Given the description of an element on the screen output the (x, y) to click on. 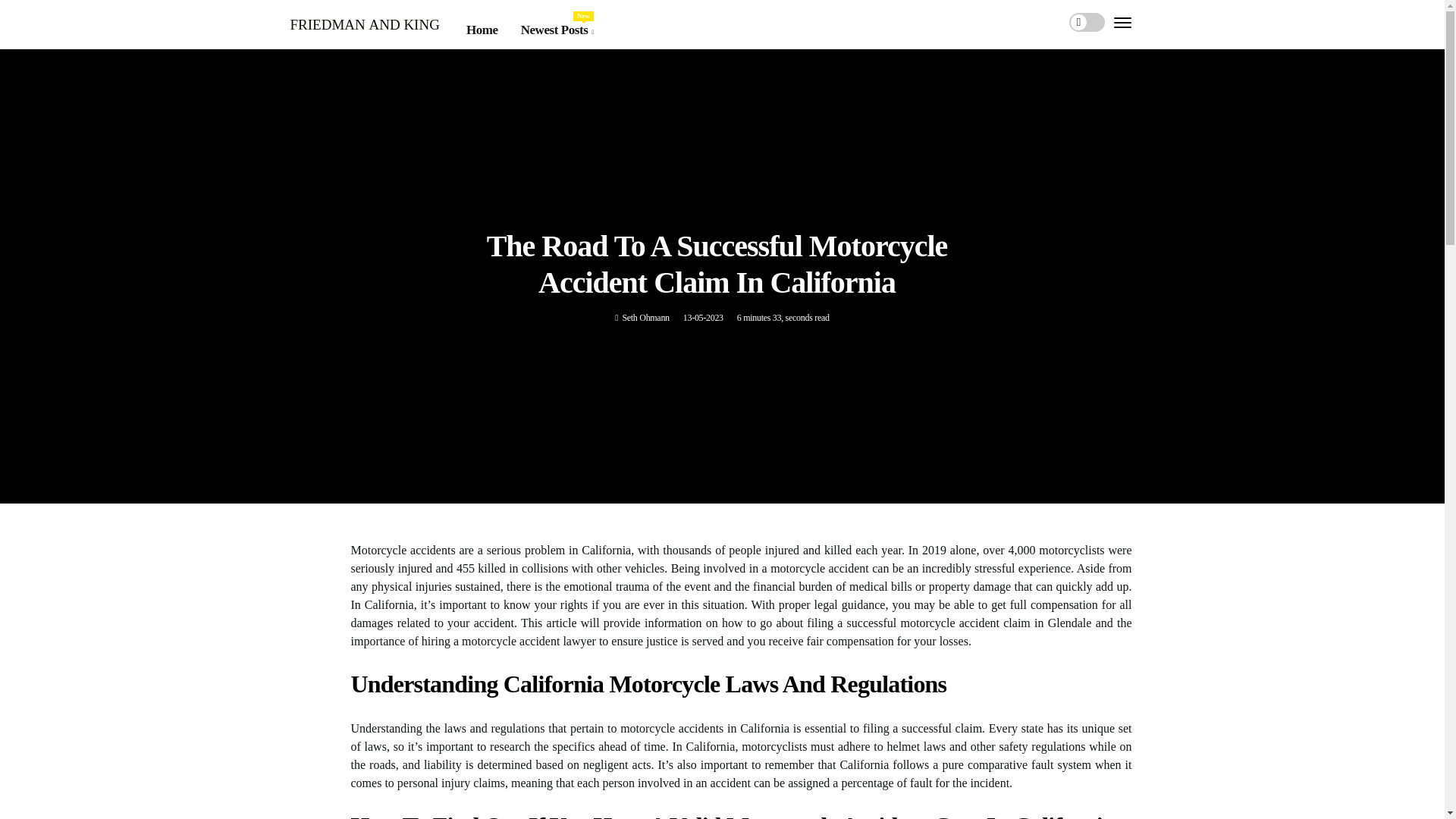
Posts by Seth Ohmann (557, 30)
Seth Ohmann (644, 317)
